Given the description of an element on the screen output the (x, y) to click on. 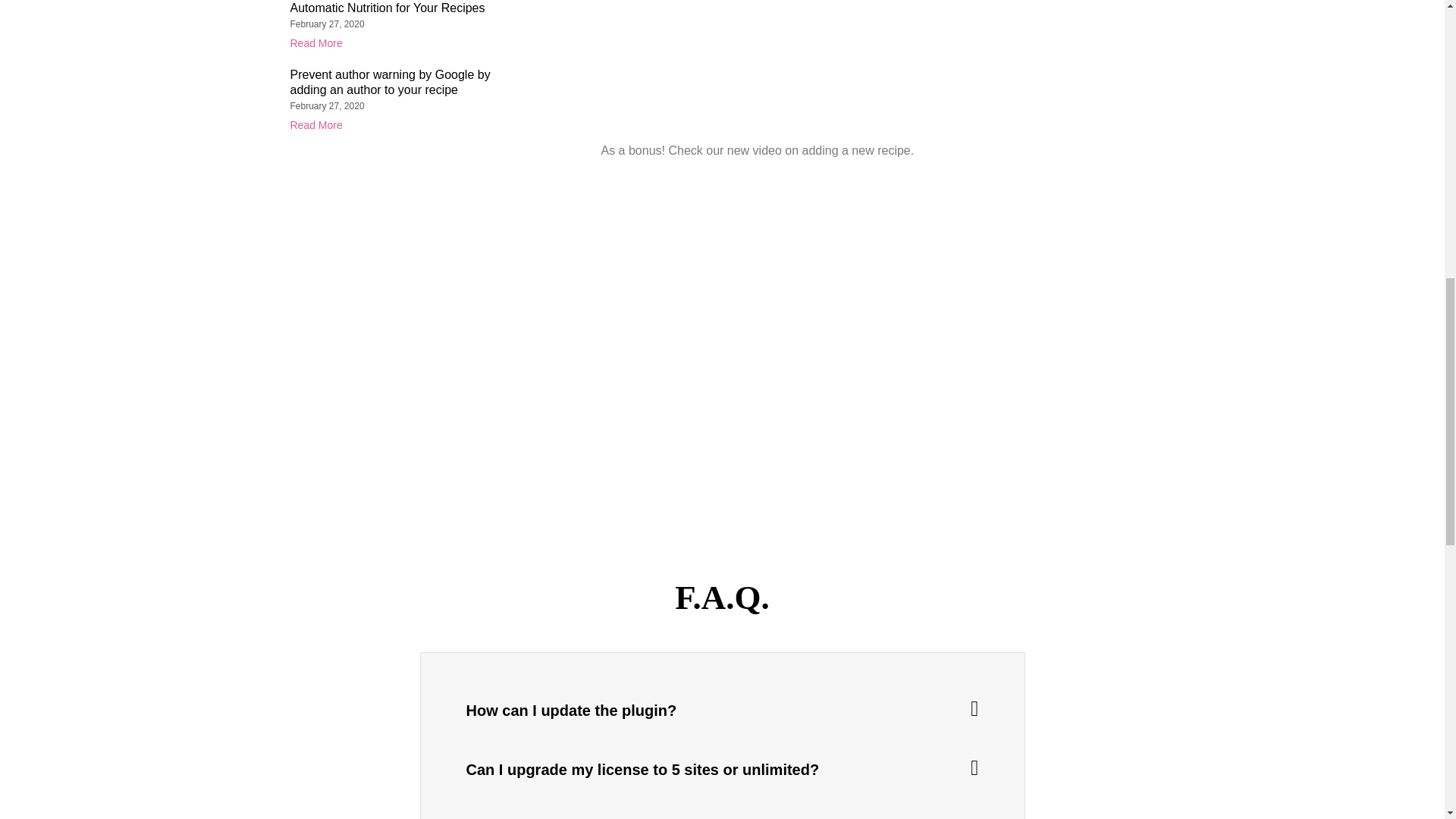
Read More (315, 42)
Can I upgrade my license to 5 sites or unlimited? (641, 769)
How can I update the plugin? (571, 710)
Read More (315, 124)
Automatic Nutrition for Your Recipes (386, 7)
